Given the description of an element on the screen output the (x, y) to click on. 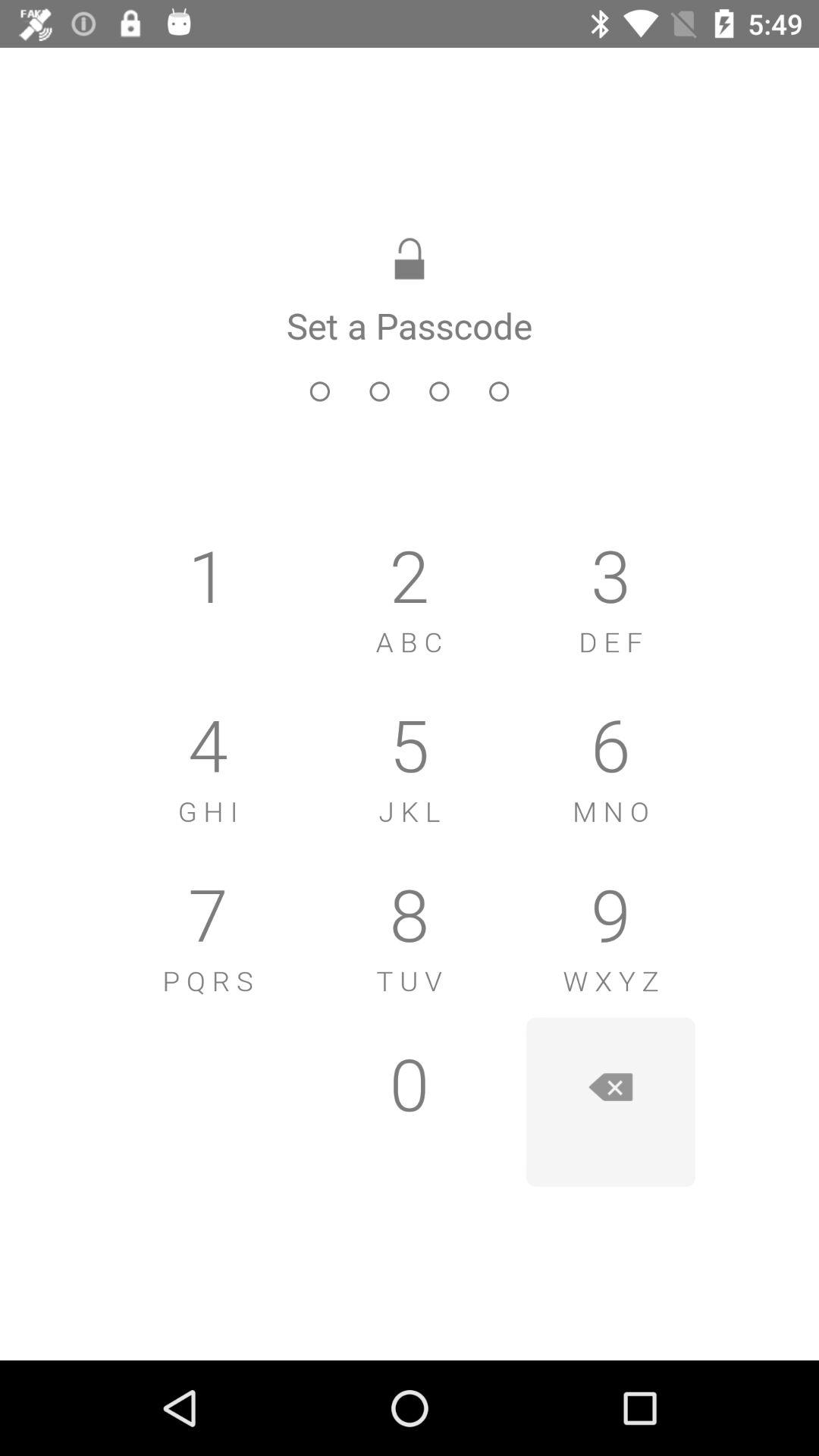
delete number (610, 1101)
